Given the description of an element on the screen output the (x, y) to click on. 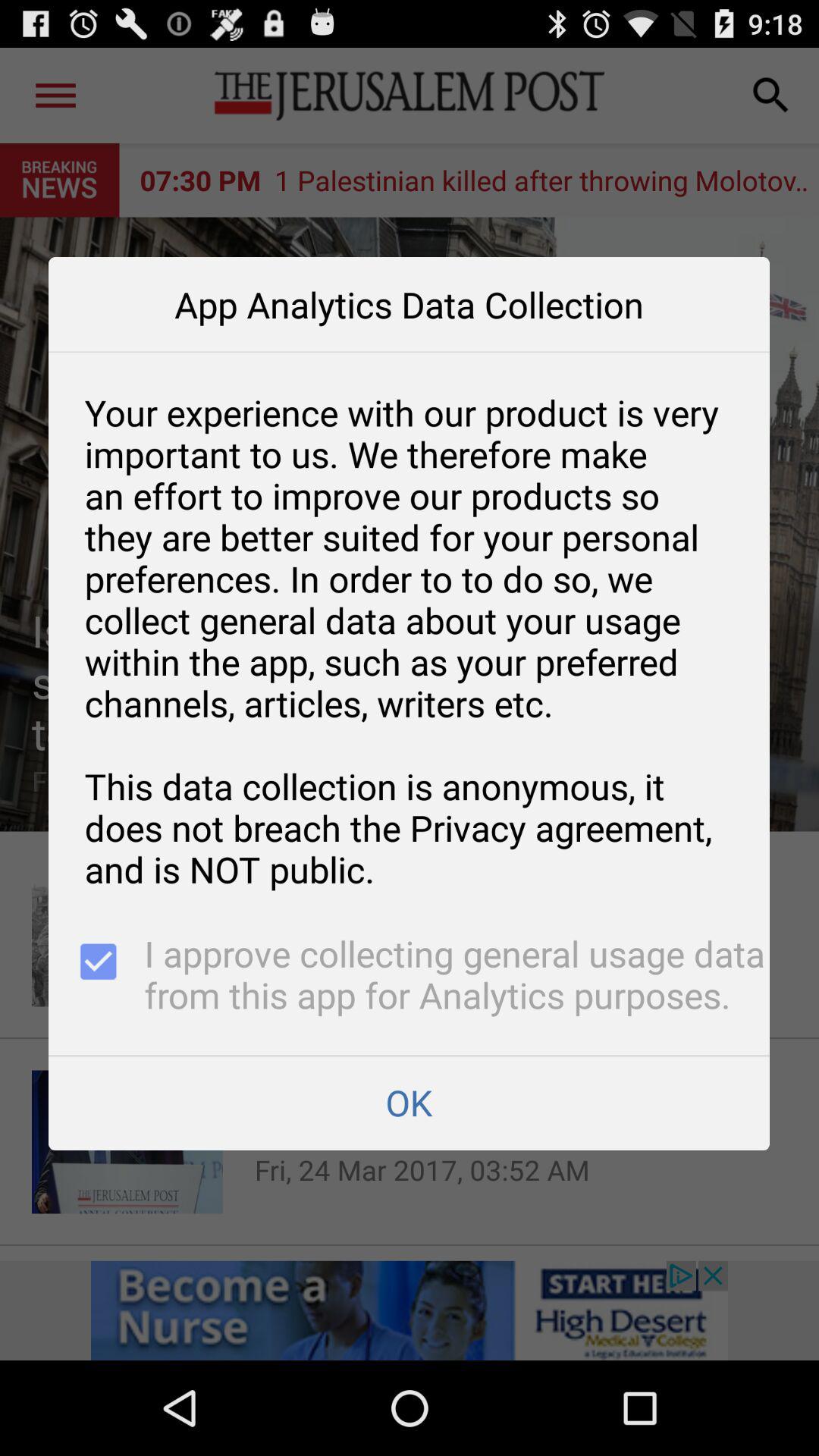
turn on ok item (408, 1102)
